Given the description of an element on the screen output the (x, y) to click on. 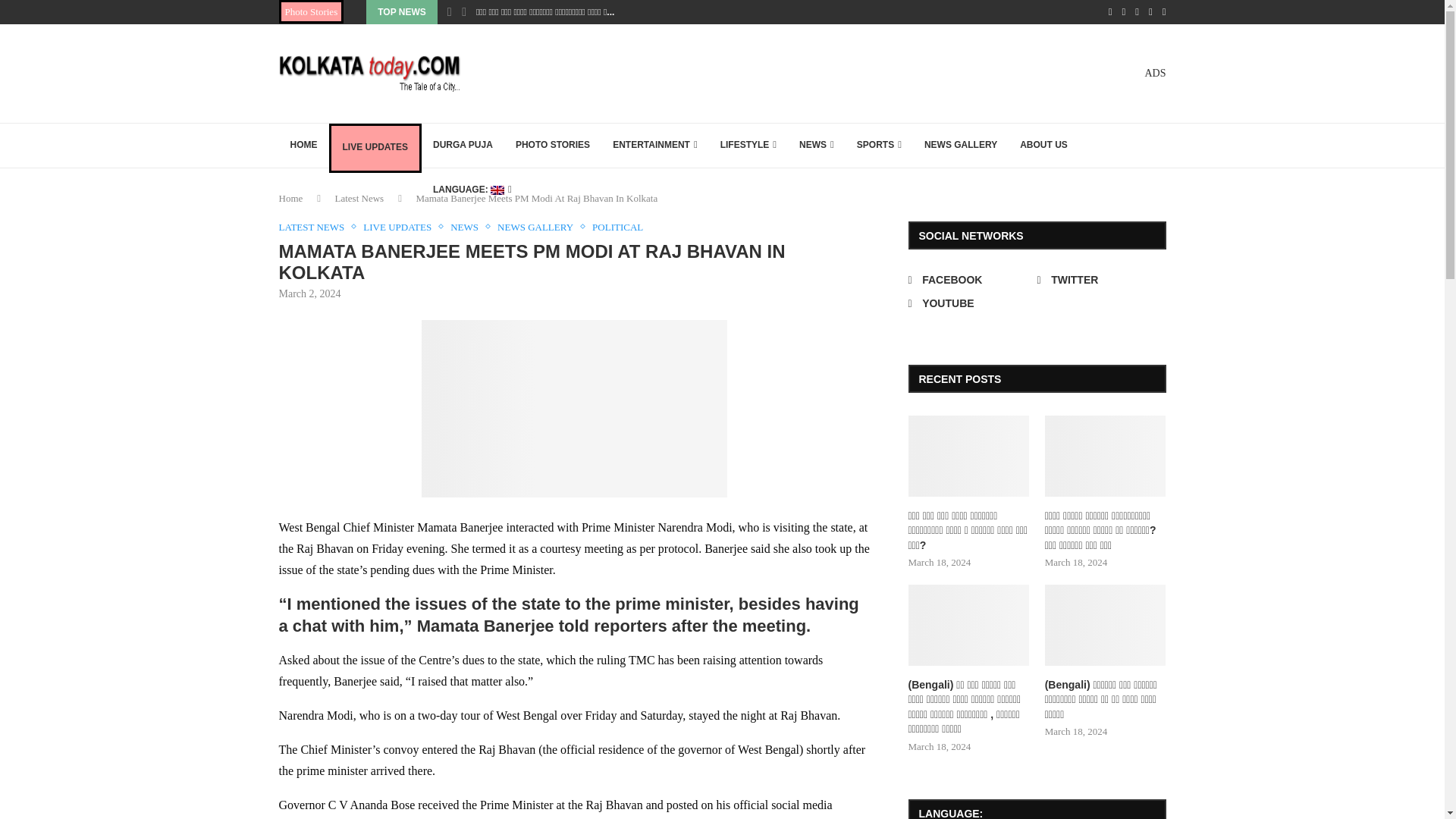
LIFESTYLE (748, 145)
NEWS (816, 145)
HOME (304, 145)
ENTERTAINMENT (655, 145)
DURGA PUJA (462, 145)
PHOTO STORIES (552, 145)
English (472, 189)
LIVE UPDATES (374, 147)
Photo Stories (311, 11)
